Given the description of an element on the screen output the (x, y) to click on. 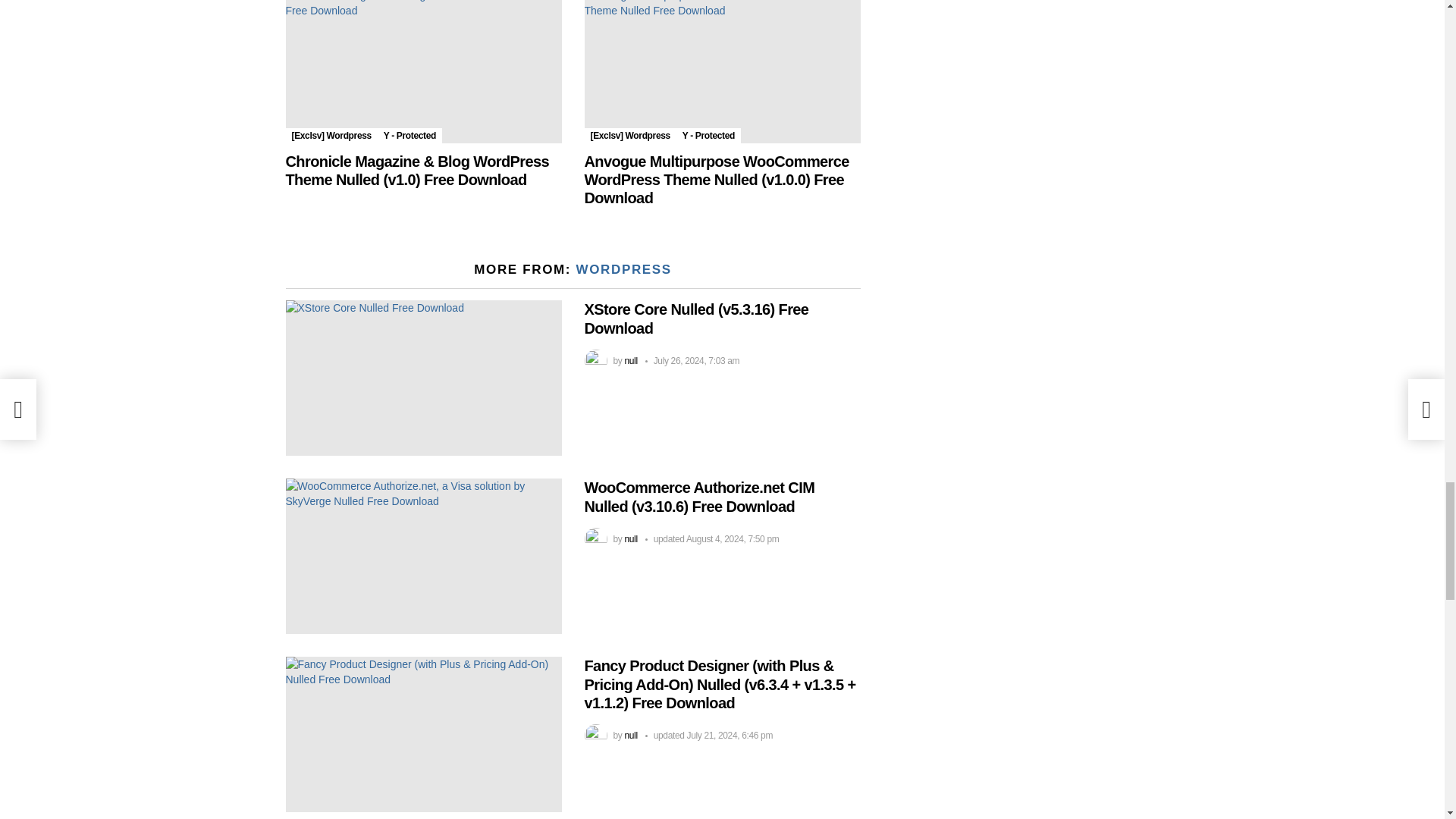
Posts by null (630, 735)
Posts by null (630, 538)
Posts by null (630, 360)
